Given the description of an element on the screen output the (x, y) to click on. 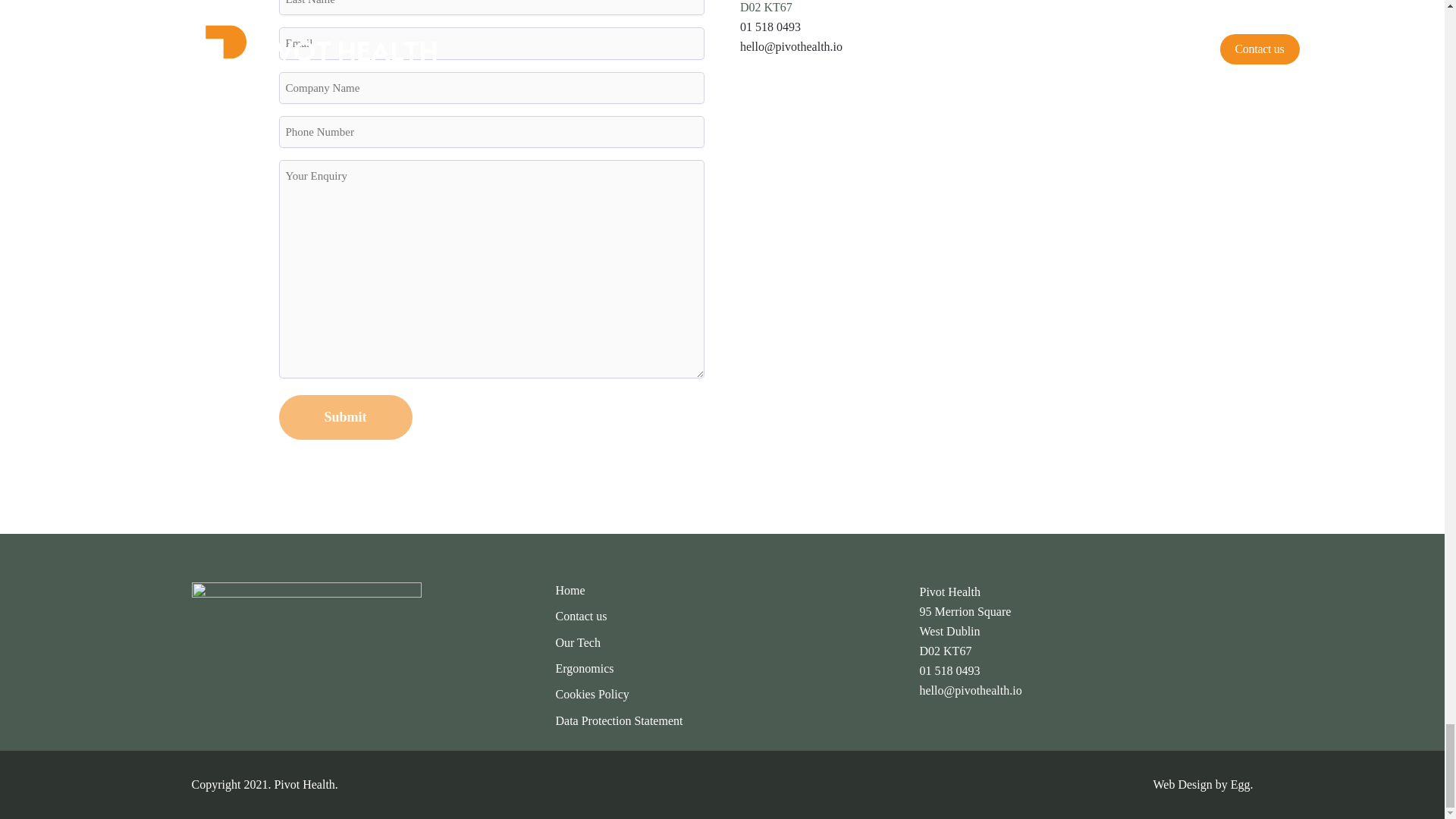
Submit (345, 416)
Home (569, 590)
Ergonomics (583, 669)
Web Design (1182, 784)
Data Protection Statement (618, 721)
01 518 0493 (948, 670)
Contact us (580, 616)
Cookies Policy (591, 694)
01 518 0493 (769, 26)
Submit (345, 416)
Our Tech (576, 642)
